Given the description of an element on the screen output the (x, y) to click on. 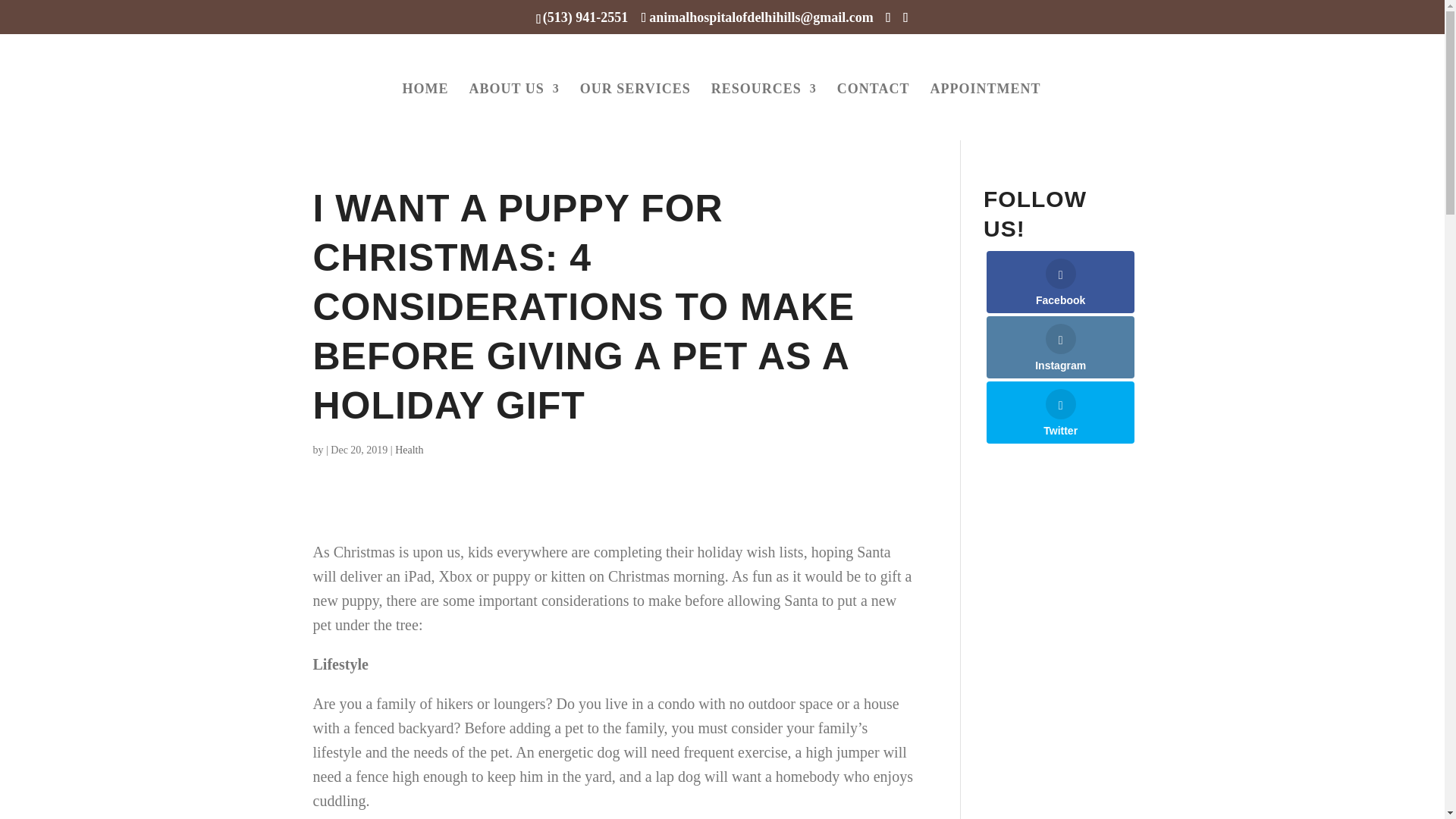
RESOURCES (763, 111)
APPOINTMENT (985, 111)
ABOUT US (513, 111)
Twitter (1060, 412)
Health (408, 449)
Instagram (1060, 347)
Facebook (1060, 281)
CONTACT (873, 111)
OUR SERVICES (634, 111)
